Given the description of an element on the screen output the (x, y) to click on. 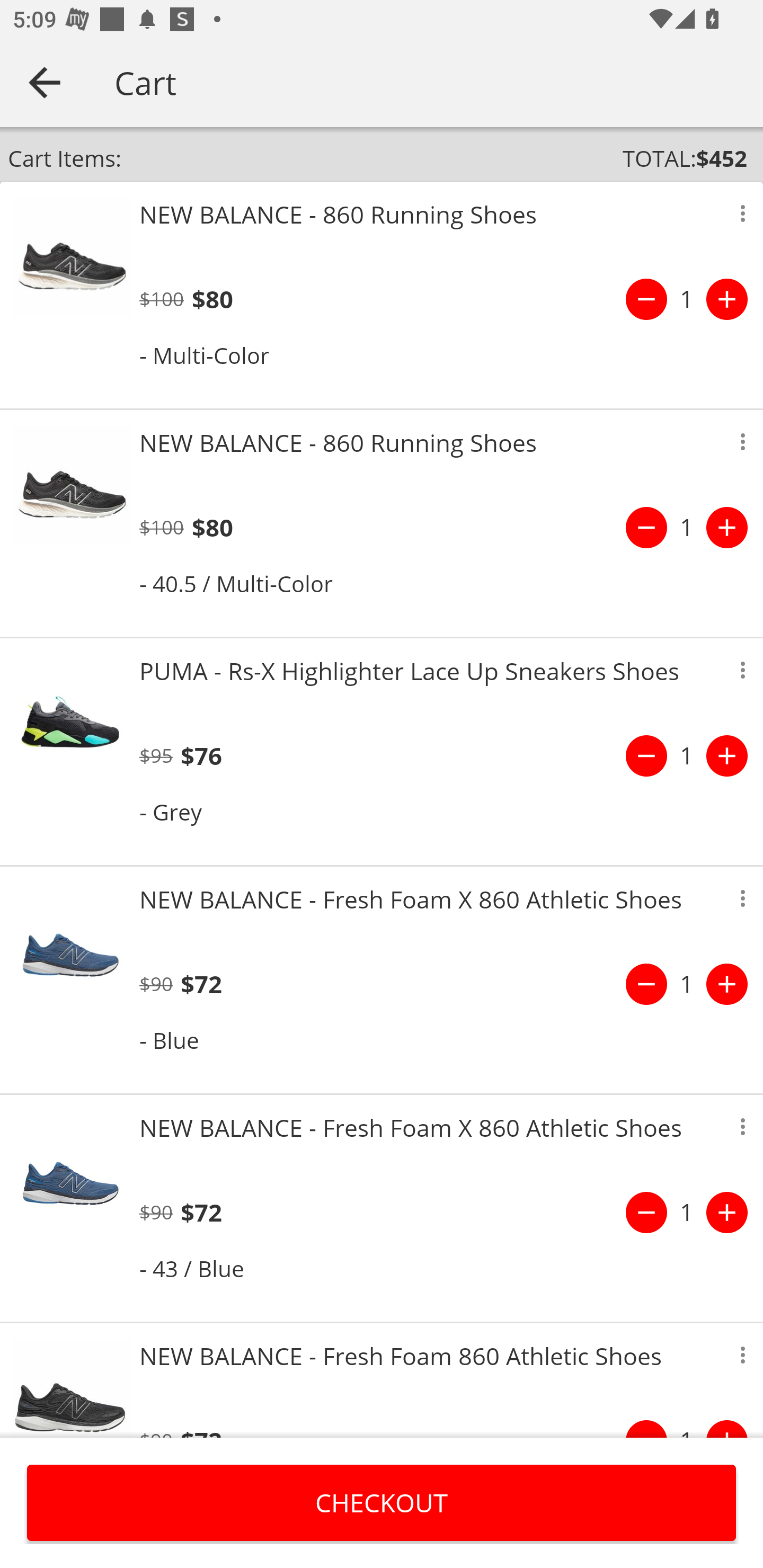
Navigate up (44, 82)
1 (686, 299)
1 (686, 527)
1 (686, 755)
1 (686, 984)
1 (686, 1211)
CHECKOUT (381, 1502)
